Given the description of an element on the screen output the (x, y) to click on. 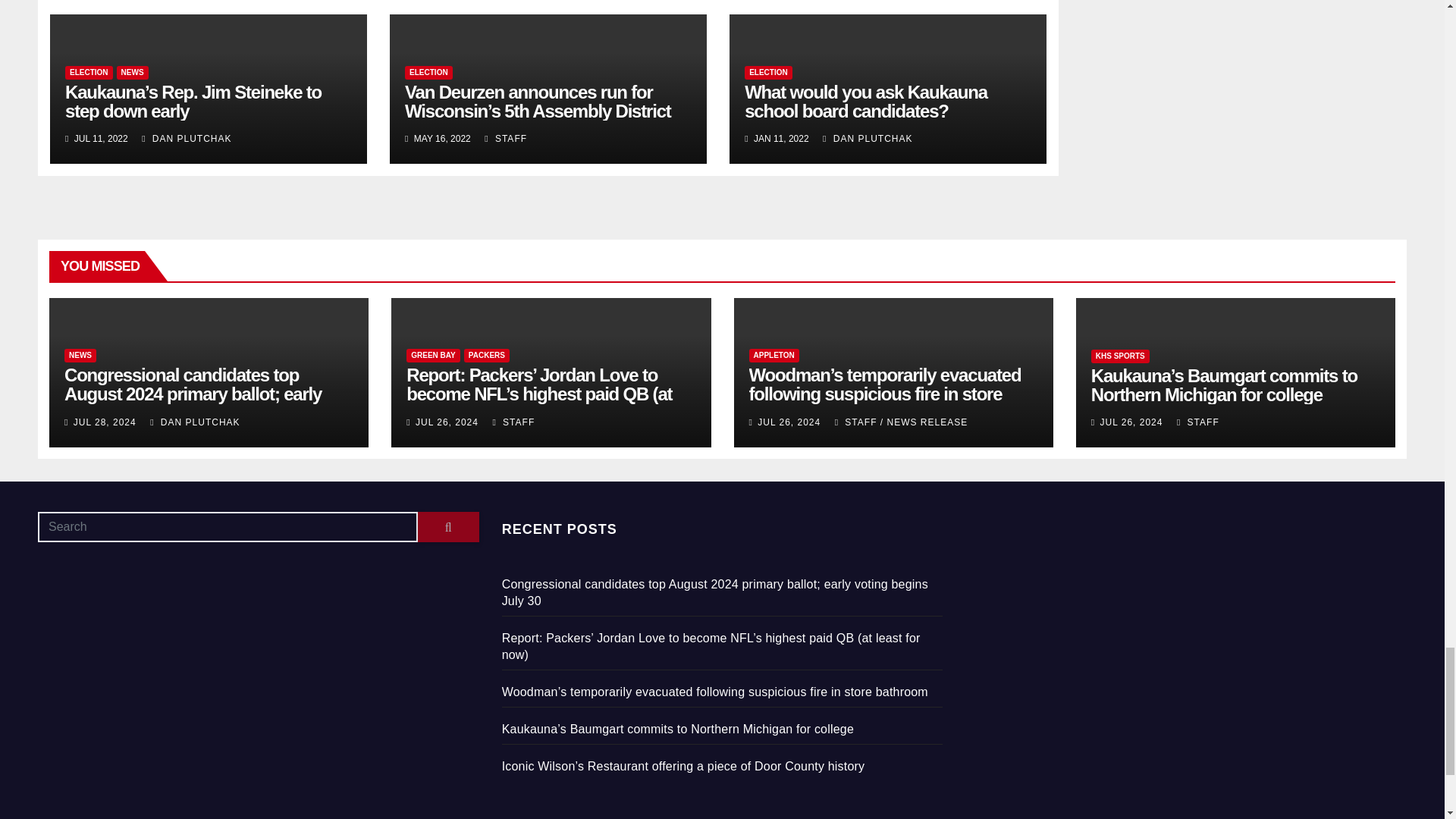
DAN PLUTCHAK (186, 138)
NEWS (132, 72)
ELECTION (89, 72)
